Given the description of an element on the screen output the (x, y) to click on. 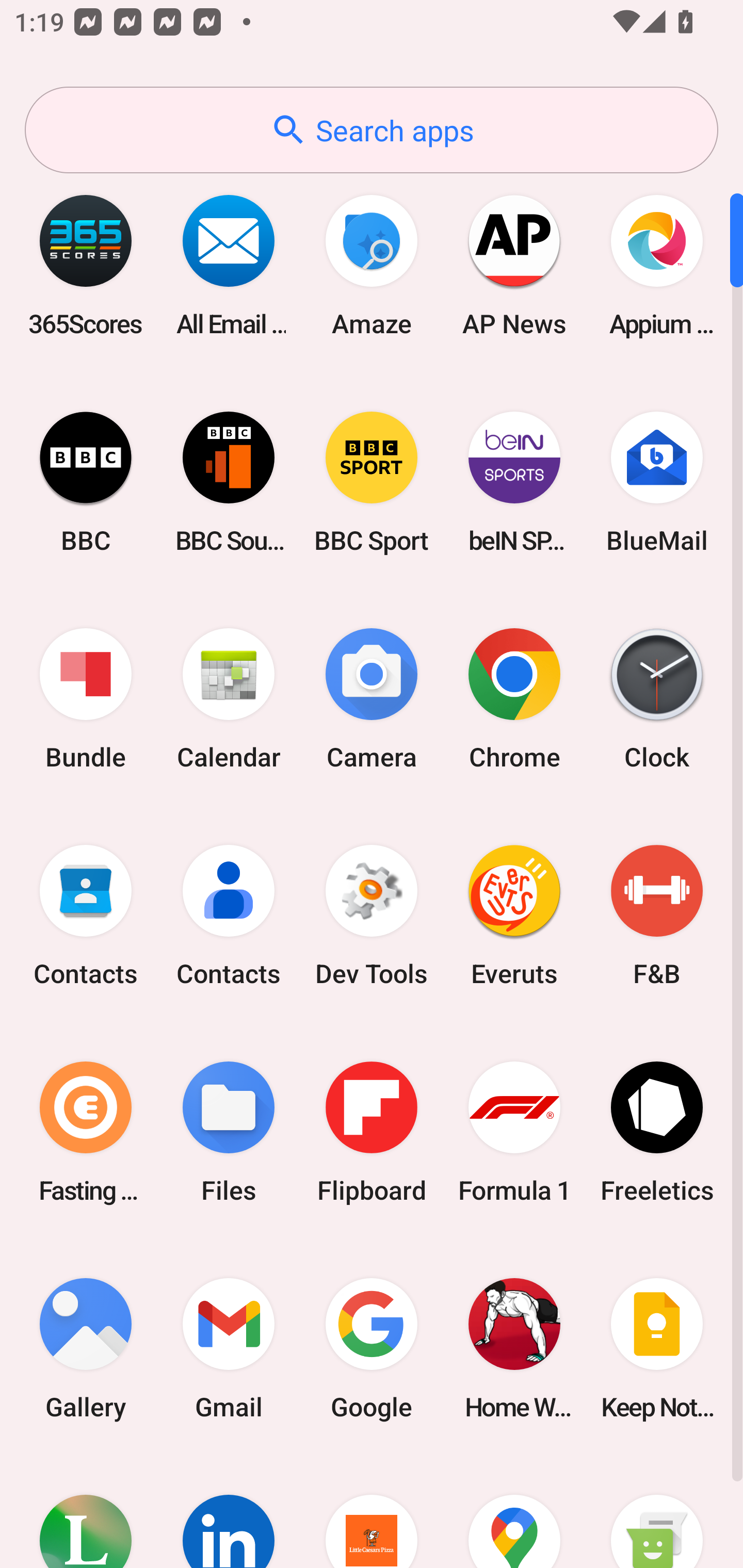
  Search apps (371, 130)
365Scores (85, 264)
All Email Connect (228, 264)
Amaze (371, 264)
AP News (514, 264)
Appium Settings (656, 264)
BBC (85, 482)
BBC Sounds (228, 482)
BBC Sport (371, 482)
beIN SPORTS (514, 482)
BlueMail (656, 482)
Bundle (85, 699)
Calendar (228, 699)
Camera (371, 699)
Chrome (514, 699)
Clock (656, 699)
Contacts (85, 915)
Contacts (228, 915)
Dev Tools (371, 915)
Everuts (514, 915)
F&B (656, 915)
Fasting Coach (85, 1131)
Files (228, 1131)
Flipboard (371, 1131)
Formula 1 (514, 1131)
Freeletics (656, 1131)
Gallery (85, 1348)
Gmail (228, 1348)
Google (371, 1348)
Home Workout (514, 1348)
Keep Notes (656, 1348)
Lifesum (85, 1512)
LinkedIn (228, 1512)
Little Caesars Pizza (371, 1512)
Maps (514, 1512)
Messaging (656, 1512)
